Given the description of an element on the screen output the (x, y) to click on. 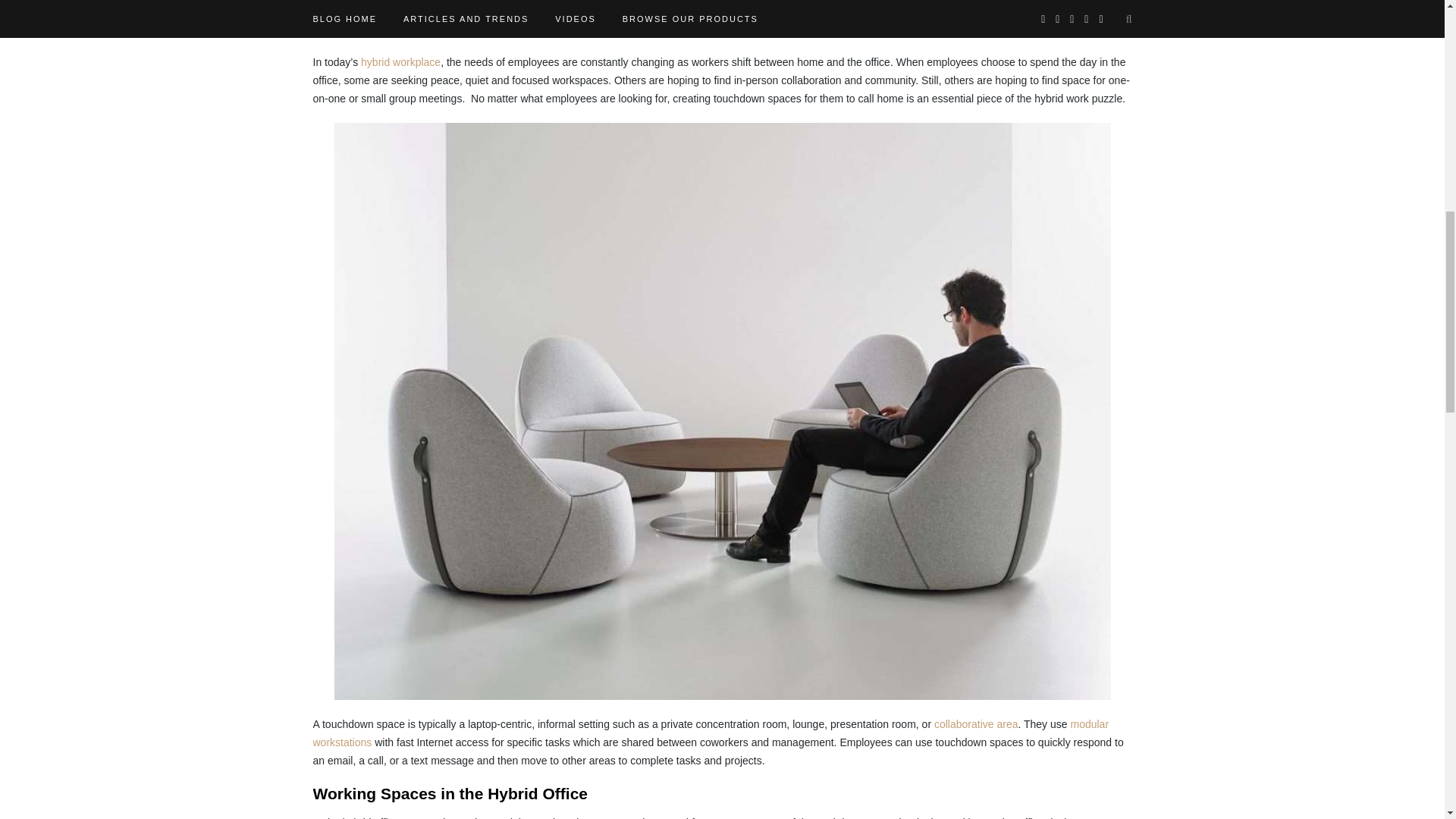
modular workstations (710, 733)
collaborative area (975, 724)
hybrid workplace (401, 61)
